Given the description of an element on the screen output the (x, y) to click on. 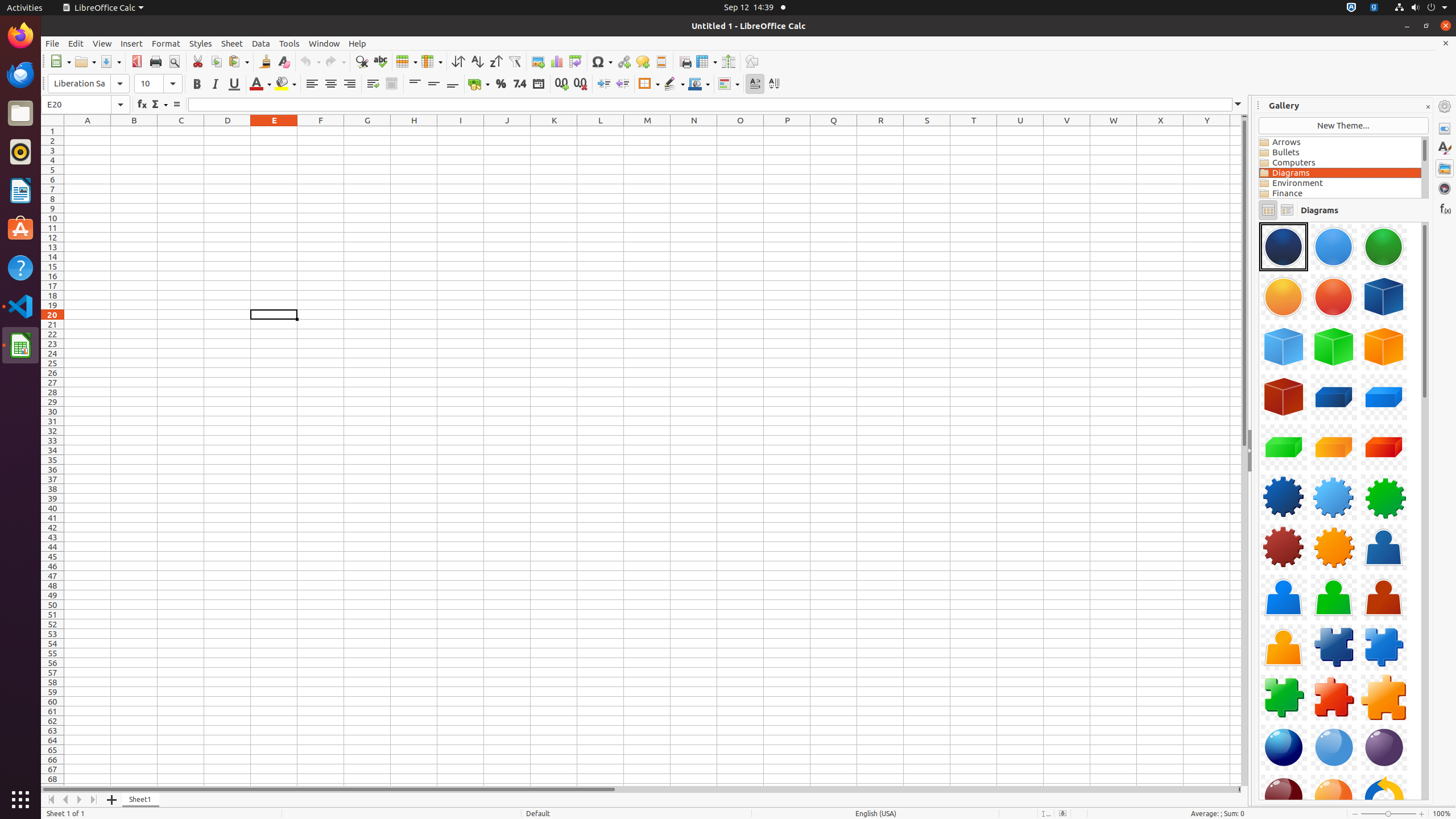
Component-Gear01-DarkBlue Element type: list-item (1283, 496)
Text direction from top to bottom Element type: toggle-button (773, 83)
Component-Cuboid01-DarkBlue Element type: list-item (1333, 396)
Cycle01-Transparent Element type: list-item (1259, 222)
Text direction from left to right Element type: toggle-button (754, 83)
